Given the description of an element on the screen output the (x, y) to click on. 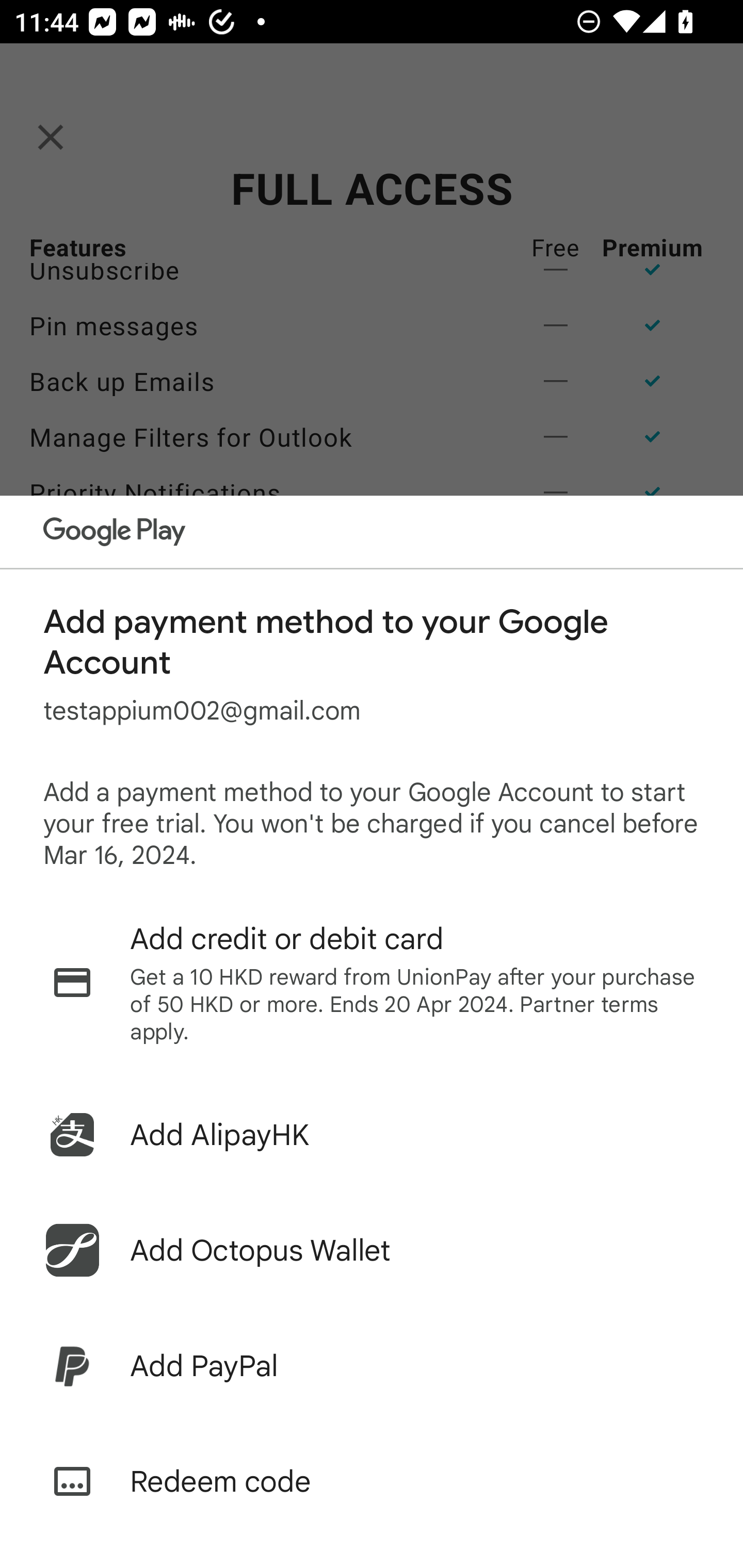
Add AlipayHK (371, 1135)
Add Octopus Wallet (371, 1250)
Add PayPal (371, 1365)
Redeem code (371, 1481)
